Given the description of an element on the screen output the (x, y) to click on. 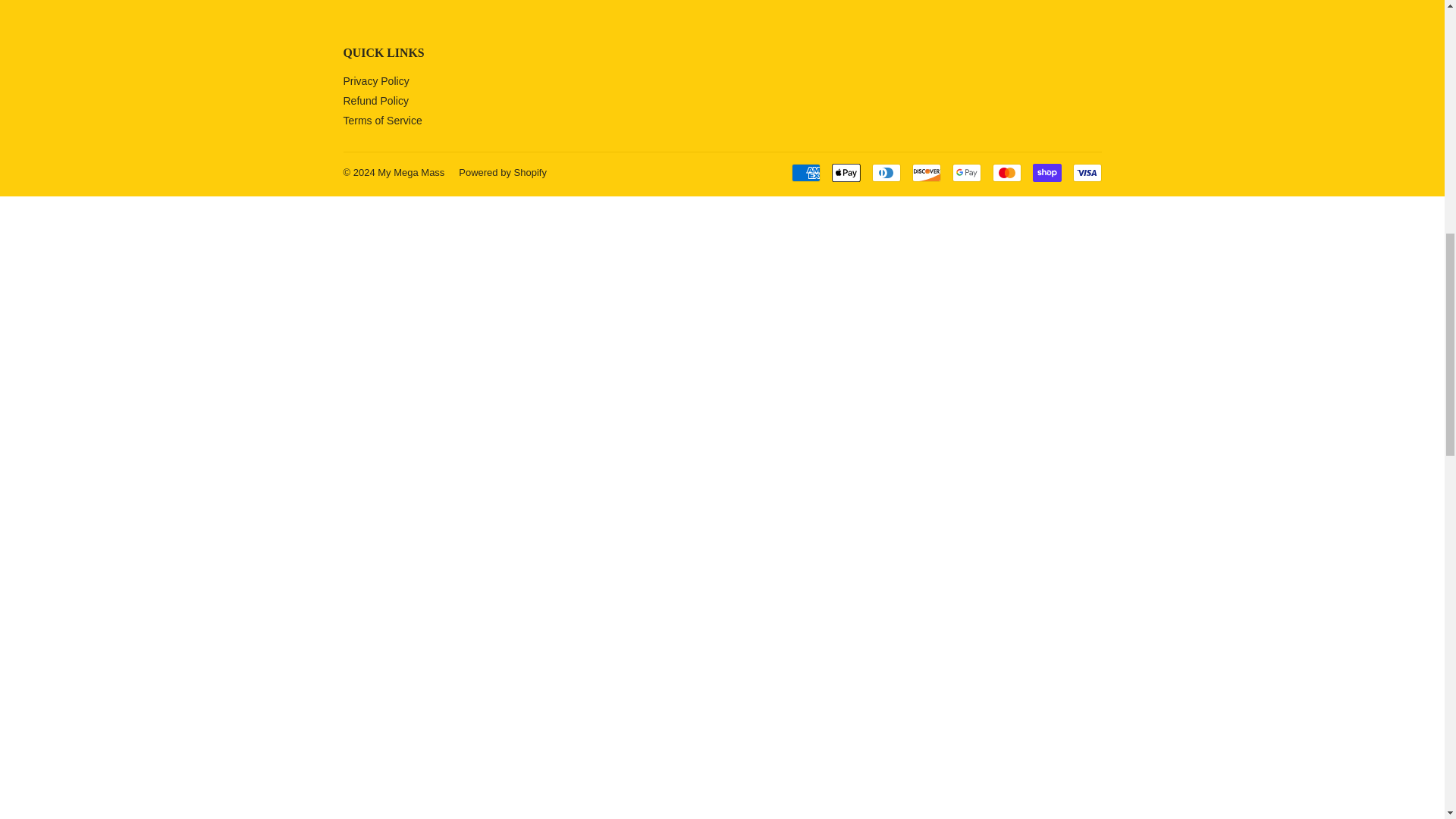
Google Pay (966, 172)
Visa (1085, 172)
Shop Pay (1046, 172)
Diners Club (886, 172)
American Express (806, 172)
Apple Pay (845, 172)
Mastercard (1005, 172)
Discover (925, 172)
